Given the description of an element on the screen output the (x, y) to click on. 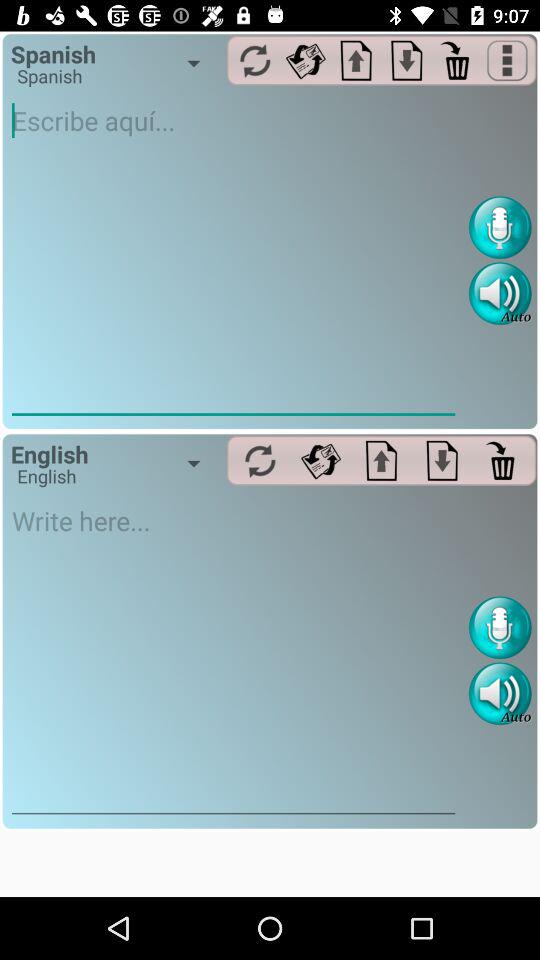
play all (259, 460)
